Given the description of an element on the screen output the (x, y) to click on. 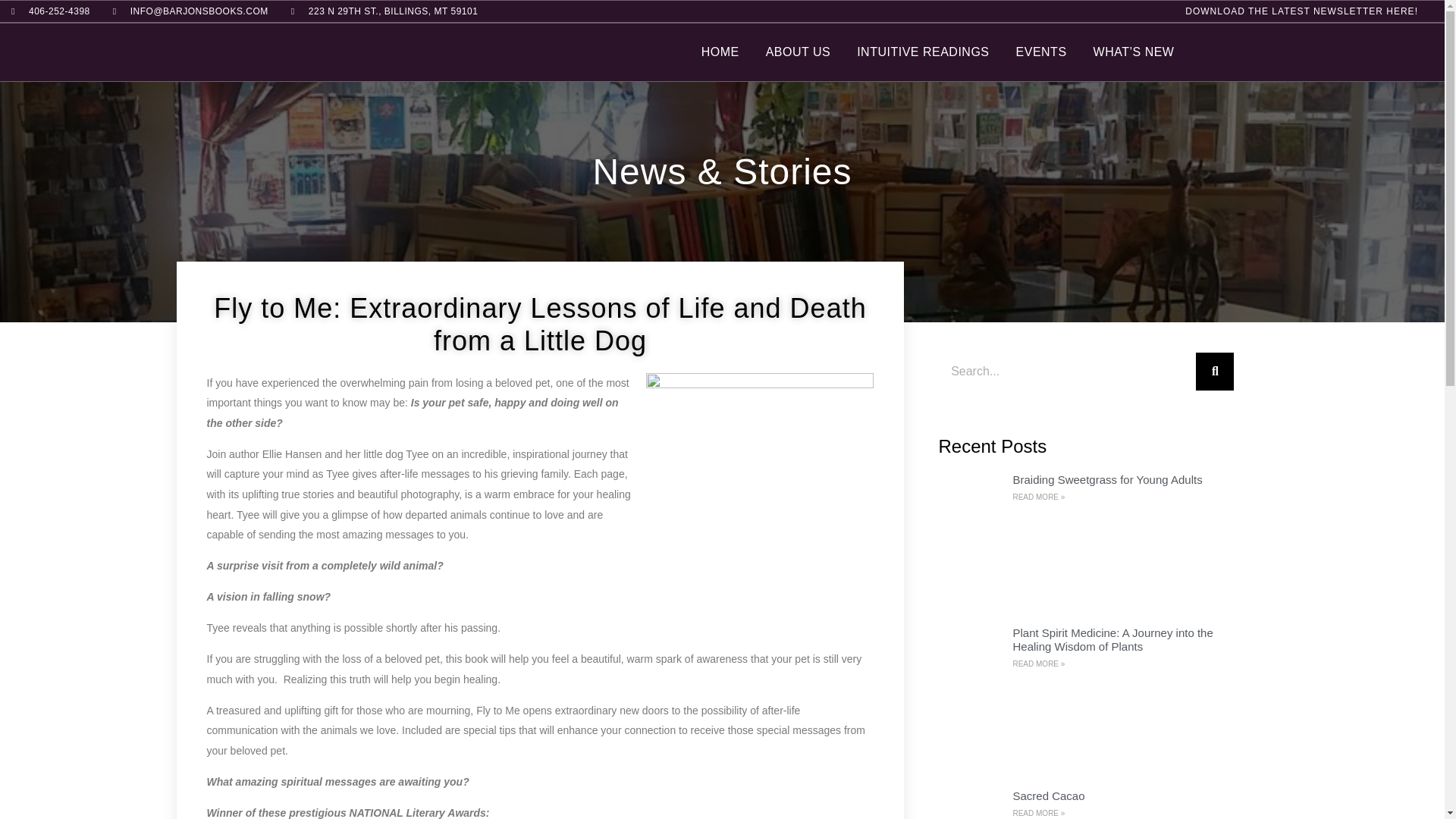
Braiding Sweetgrass for Young Adults (1106, 479)
EVENTS (1041, 51)
Sacred Cacao (1047, 795)
DOWNLOAD THE LATEST NEWSLETTER HERE! (1301, 11)
HOME (720, 51)
ABOUT US (798, 51)
INTUITIVE READINGS (922, 51)
223 N 29TH ST., BILLINGS, MT 59101 (385, 10)
406-252-4398 (50, 10)
